Given the description of an element on the screen output the (x, y) to click on. 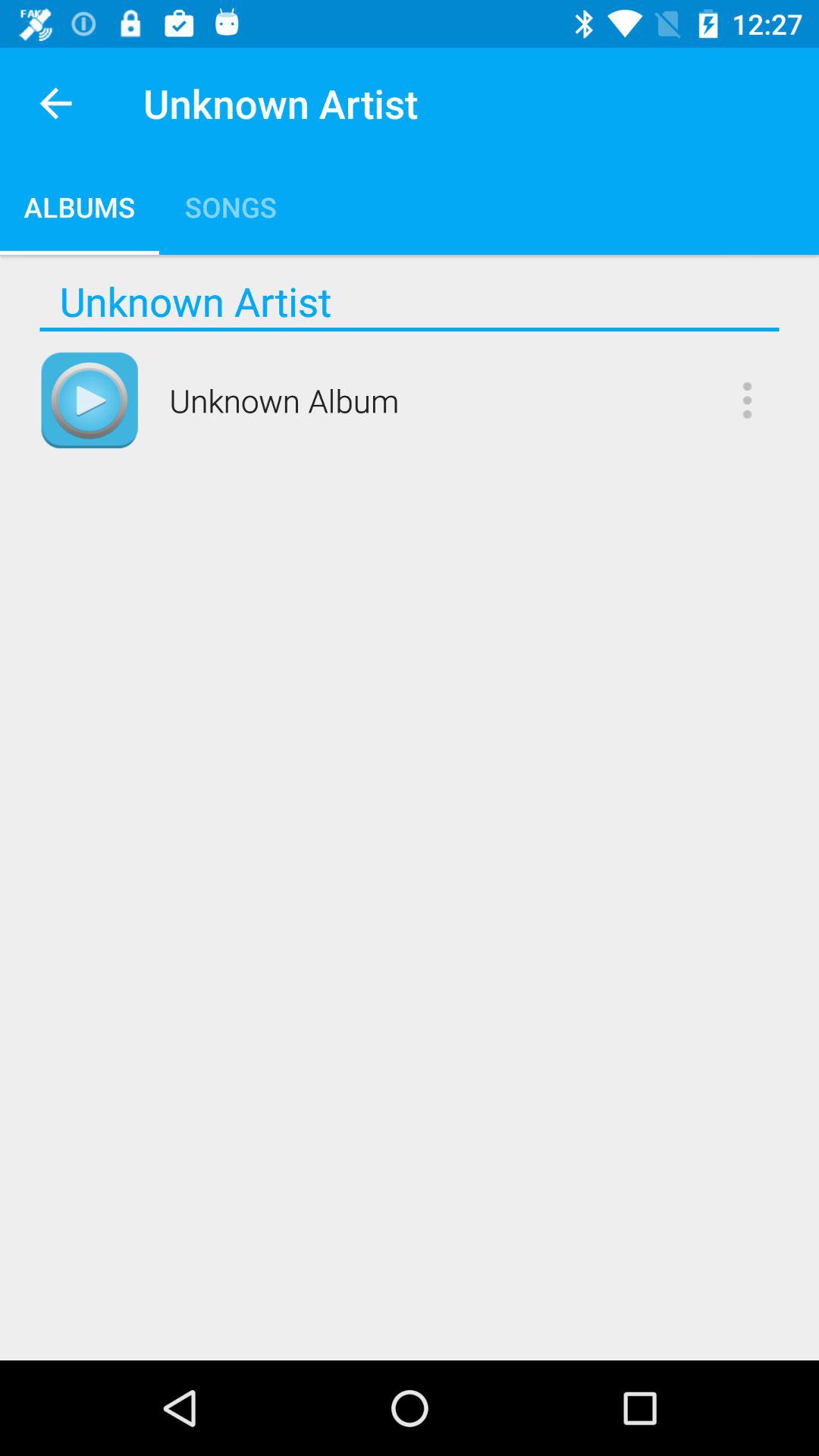
press the app next to unknown artist item (55, 103)
